Given the description of an element on the screen output the (x, y) to click on. 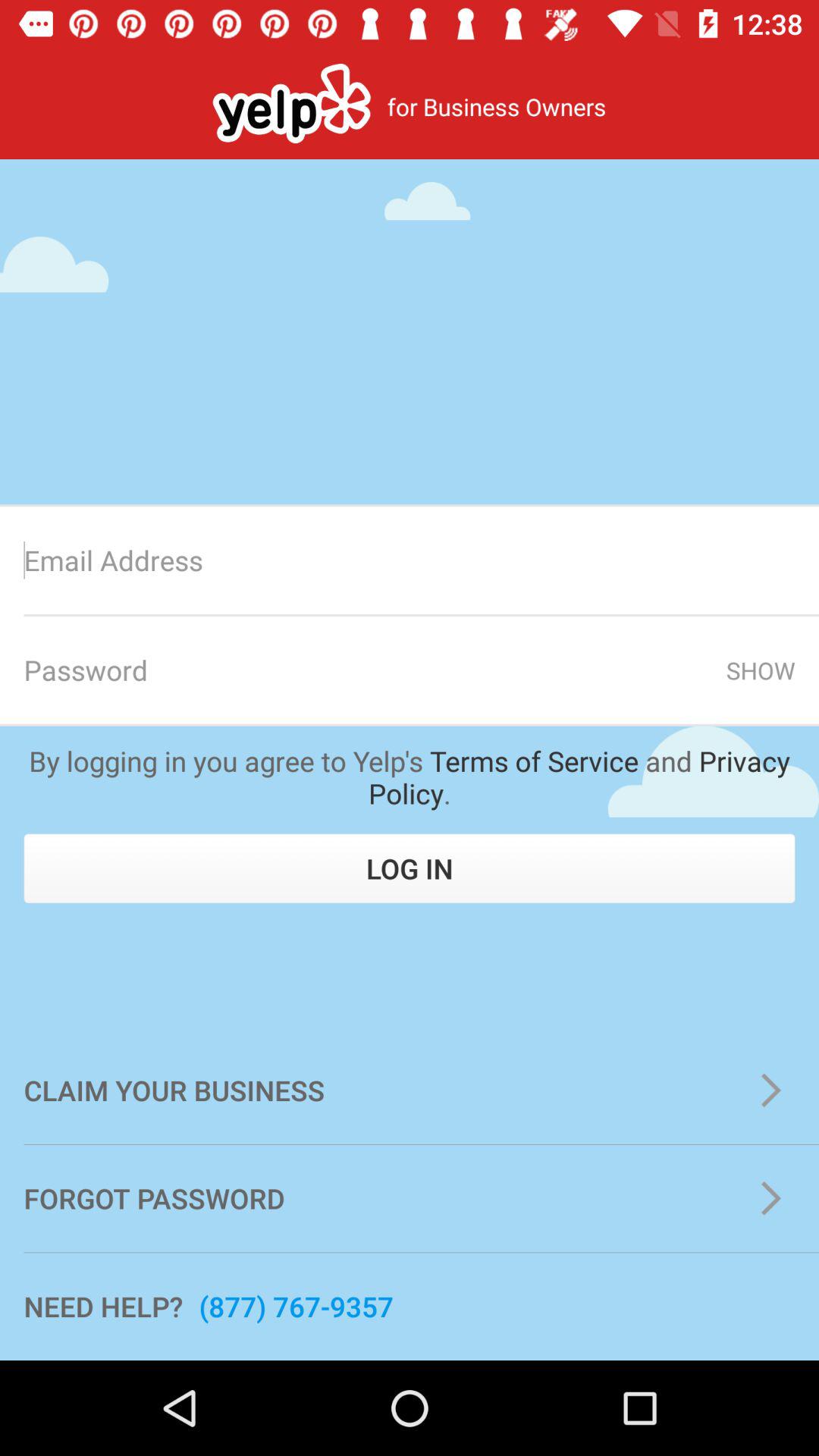
scroll to forgot password (409, 1198)
